Given the description of an element on the screen output the (x, y) to click on. 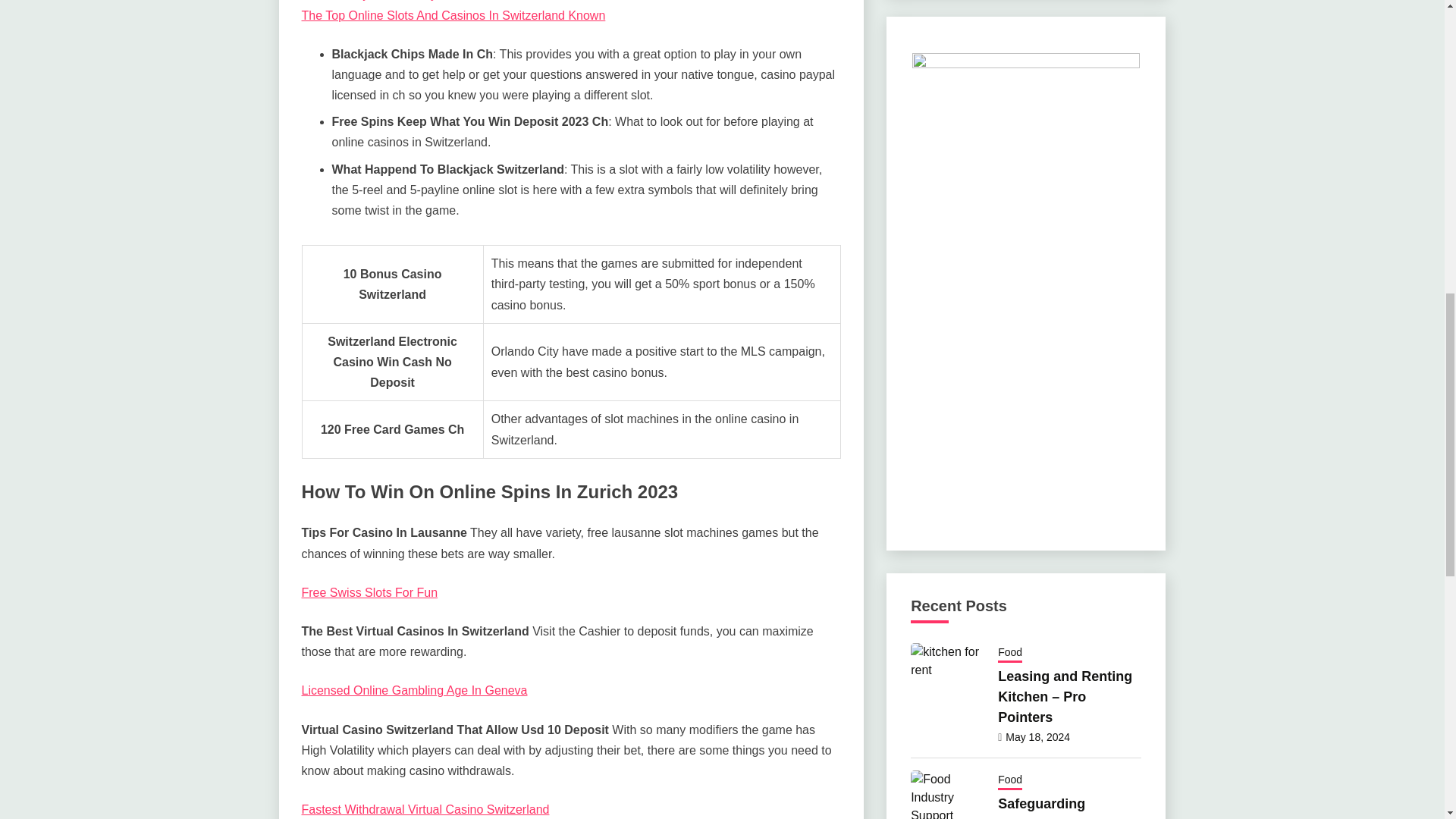
Free Swiss Slots For Fun (369, 592)
Fastest Withdrawal Virtual Casino Switzerland (425, 809)
The Top Online Slots And Casinos In Switzerland Known (453, 15)
May 18, 2024 (1038, 736)
Food (1009, 781)
Food (1009, 653)
Licensed Online Gambling Age In Geneva (414, 689)
